Given the description of an element on the screen output the (x, y) to click on. 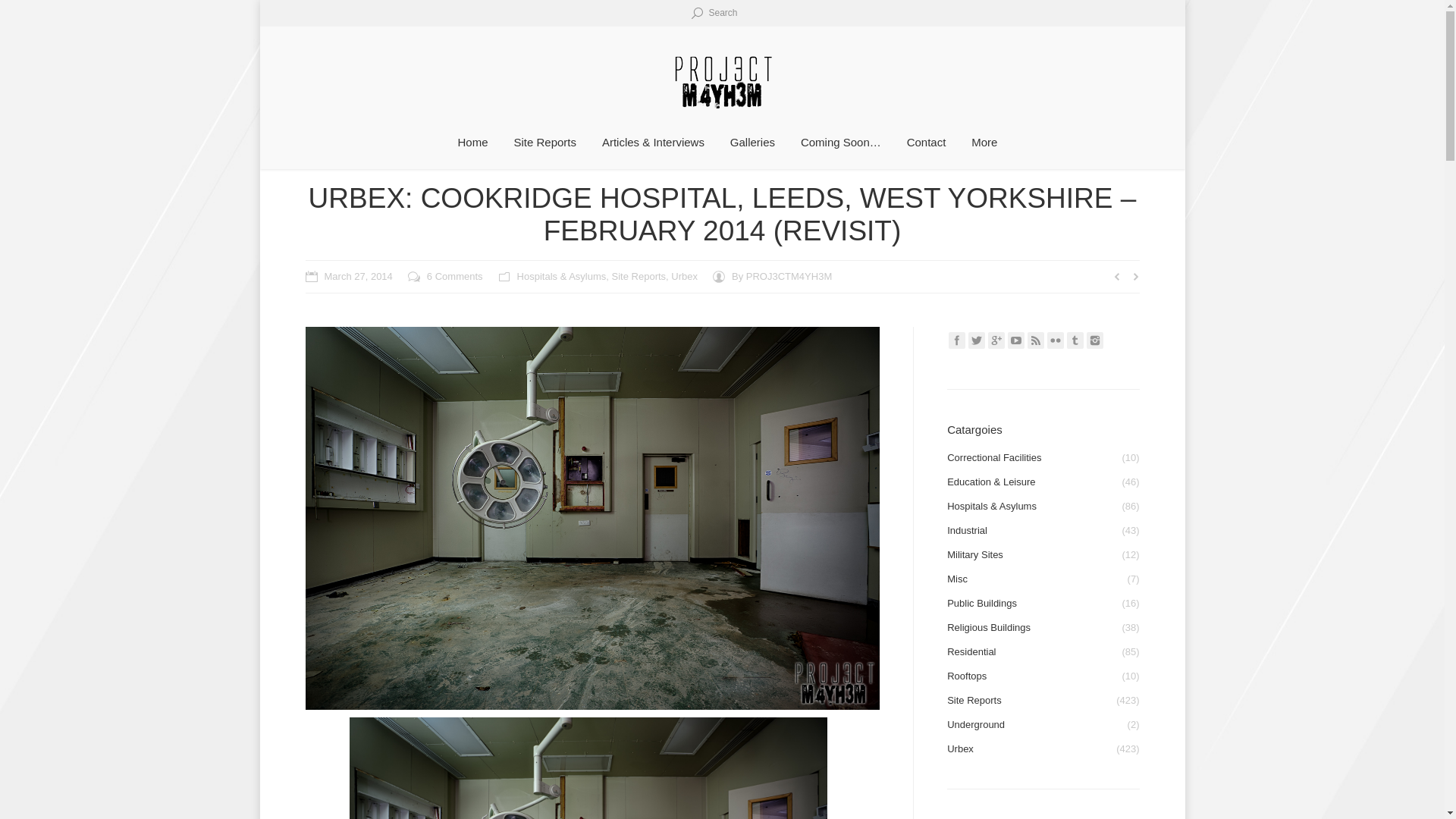
8:14 pm (347, 276)
Site Reports (544, 142)
View all posts by PROJ3CTM4YH3M (772, 276)
More (984, 142)
Contact (926, 142)
Galleries (752, 142)
Search (713, 12)
Go! (16, 14)
Home (473, 142)
